Given the description of an element on the screen output the (x, y) to click on. 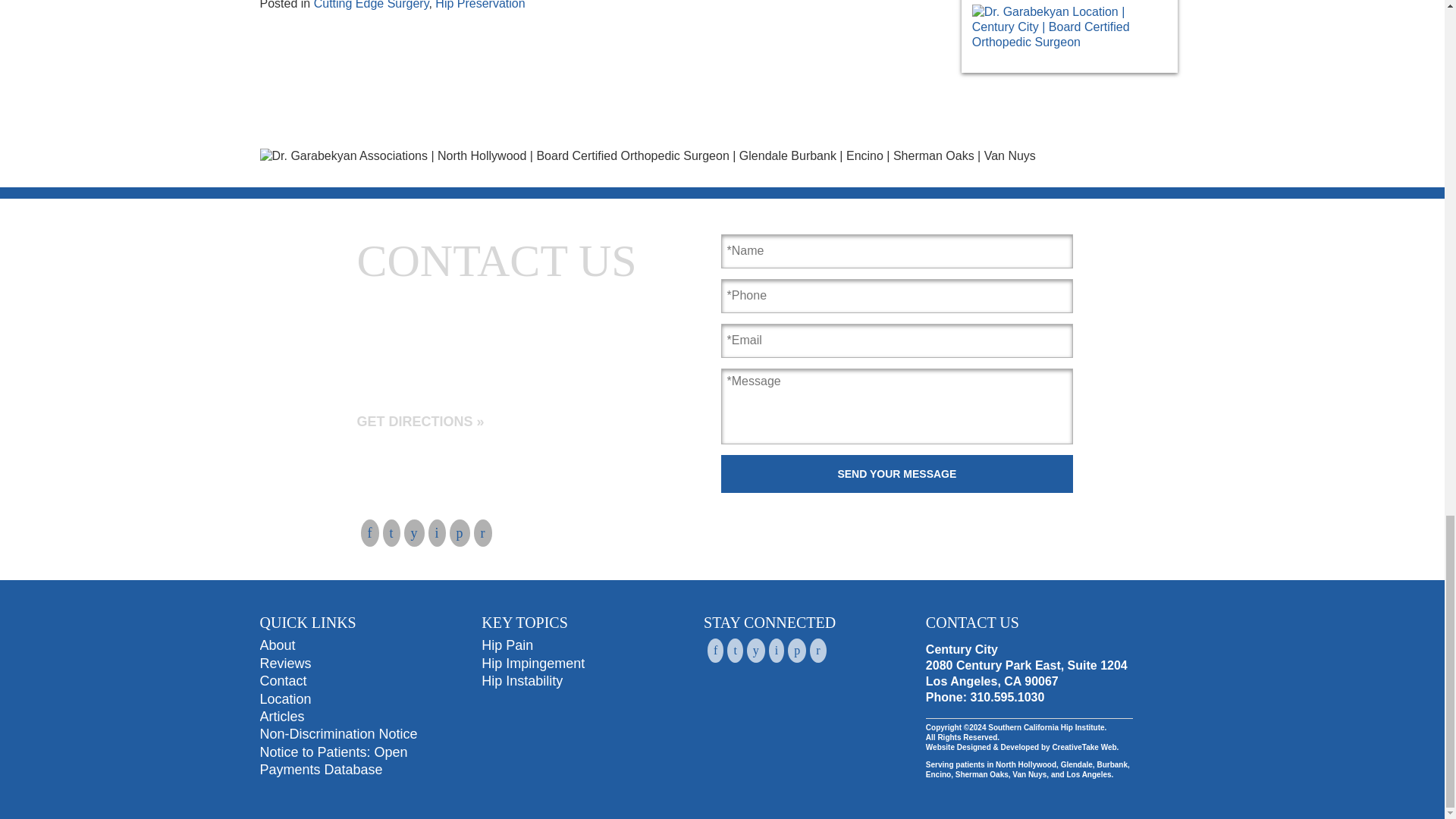
CreativeTake Medical (1084, 746)
Send Your Message (897, 474)
Southern California Hip Institute. (1045, 727)
